Given the description of an element on the screen output the (x, y) to click on. 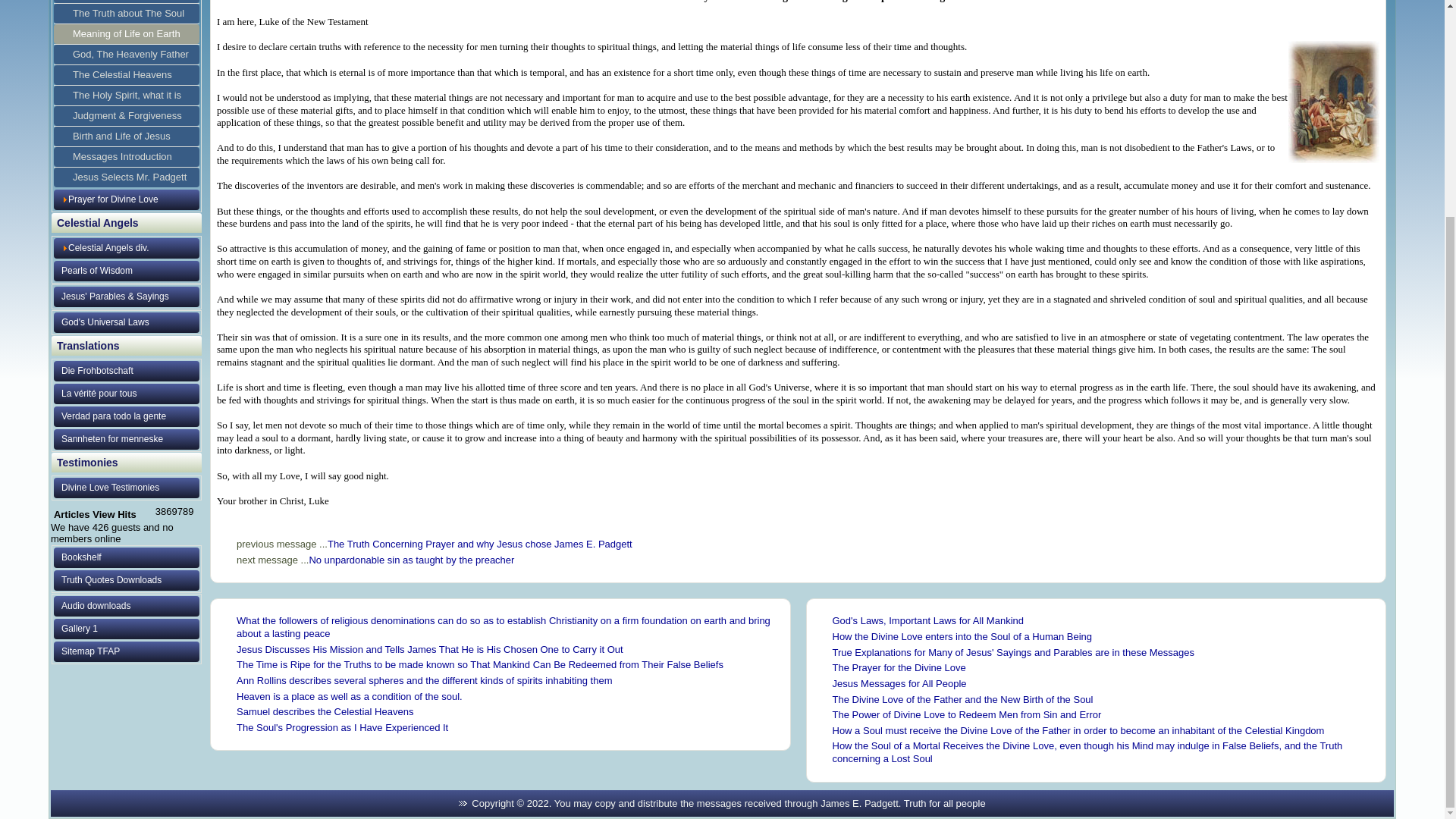
The Holy Spirit, what it is (126, 95)
Birth and Life of Jesus (126, 136)
Meaning of Life on Earth (126, 34)
The Celestial Heavens (126, 75)
Jesus Selects Mr. Padgett (126, 177)
Messages Introduction (126, 157)
The Divine Love of God (126, 1)
God, The Heavenly Father (126, 54)
Prayer for Divine Love (126, 199)
The Truth about The Soul (126, 13)
